Given the description of an element on the screen output the (x, y) to click on. 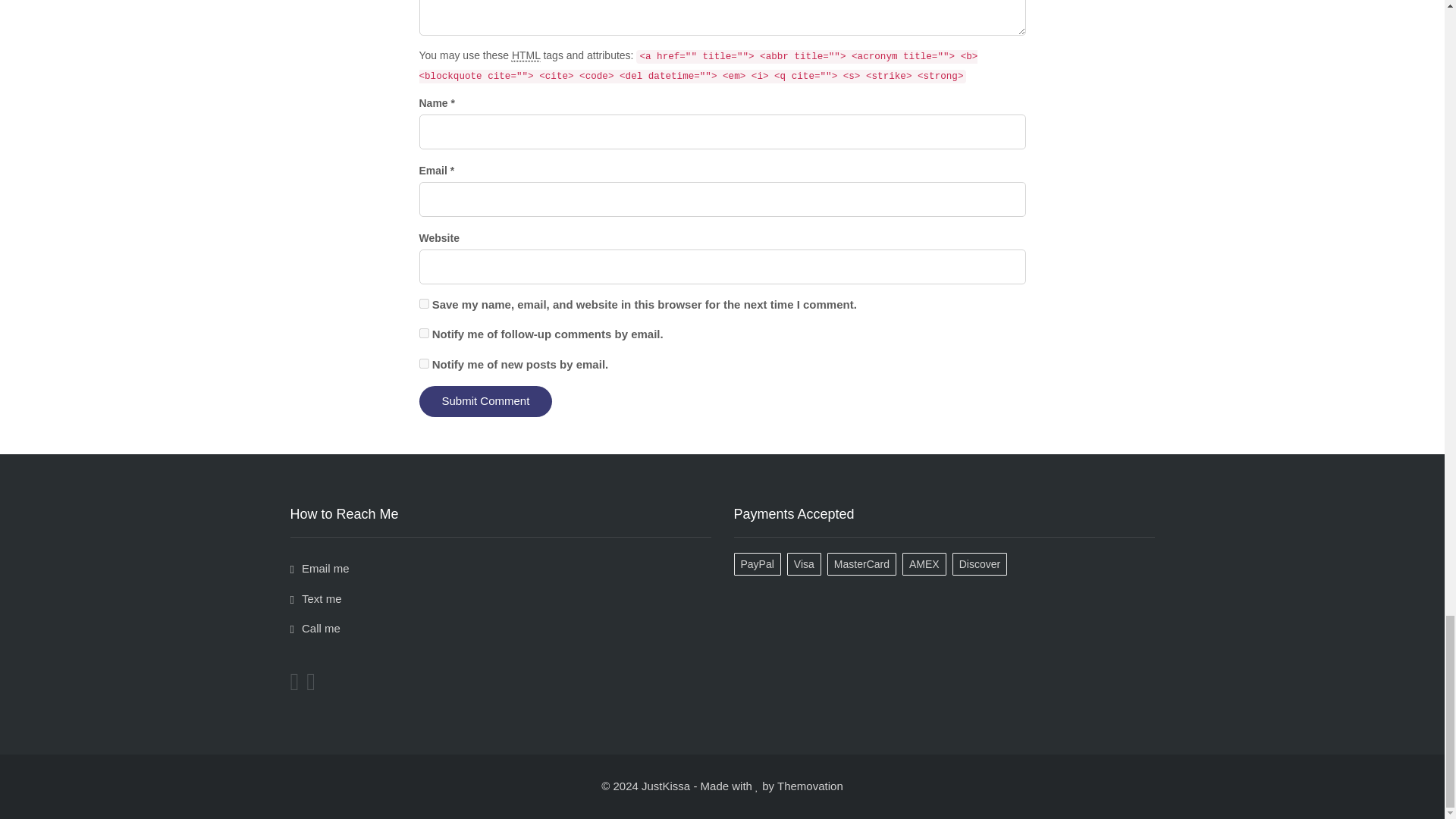
Submit Comment (485, 400)
HyperText Markup Language (526, 55)
Submit Comment (485, 400)
subscribe (423, 333)
yes (423, 303)
subscribe (423, 363)
